Given the description of an element on the screen output the (x, y) to click on. 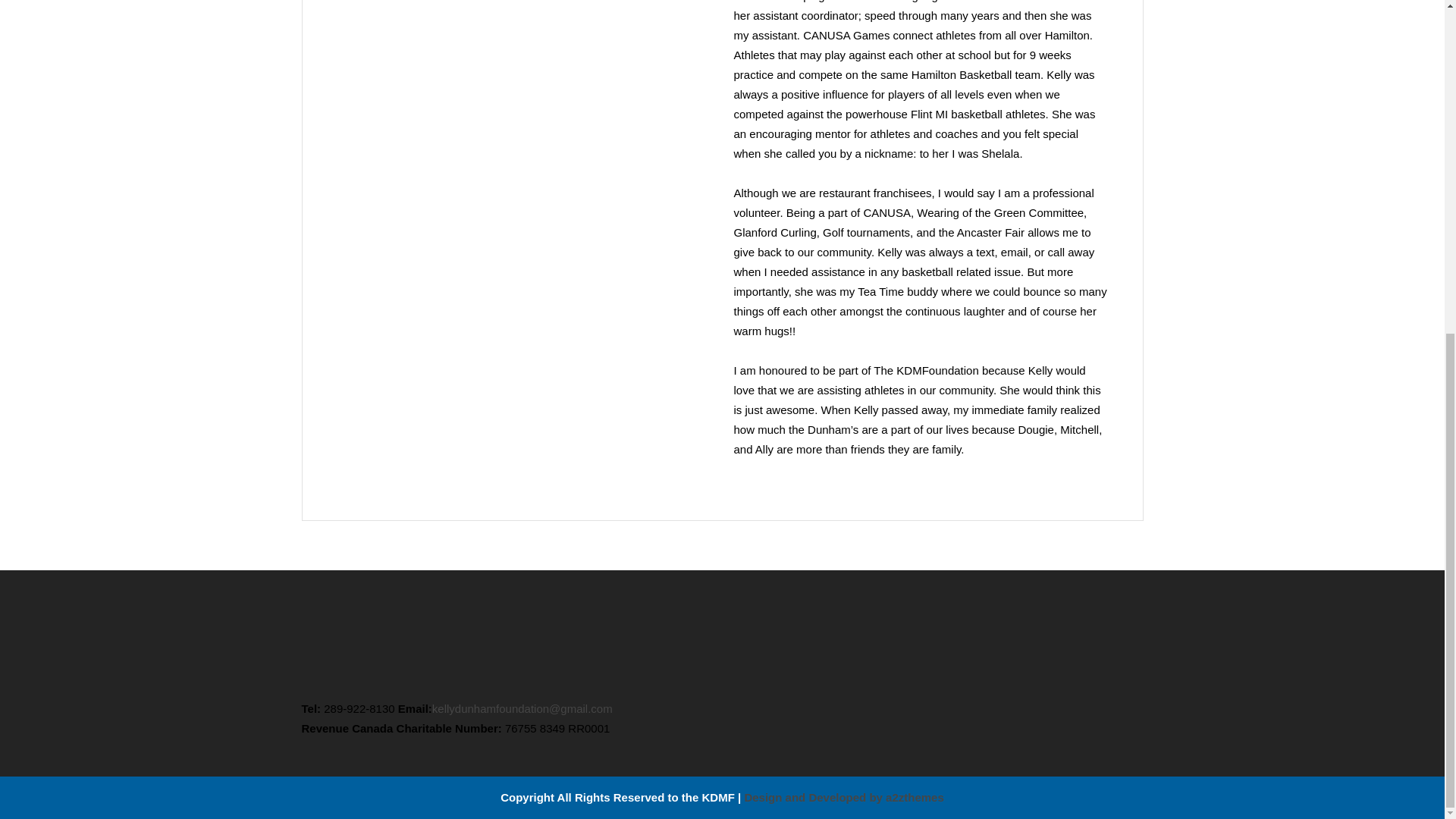
Design and Developed by a2zthemes (843, 797)
